Given the description of an element on the screen output the (x, y) to click on. 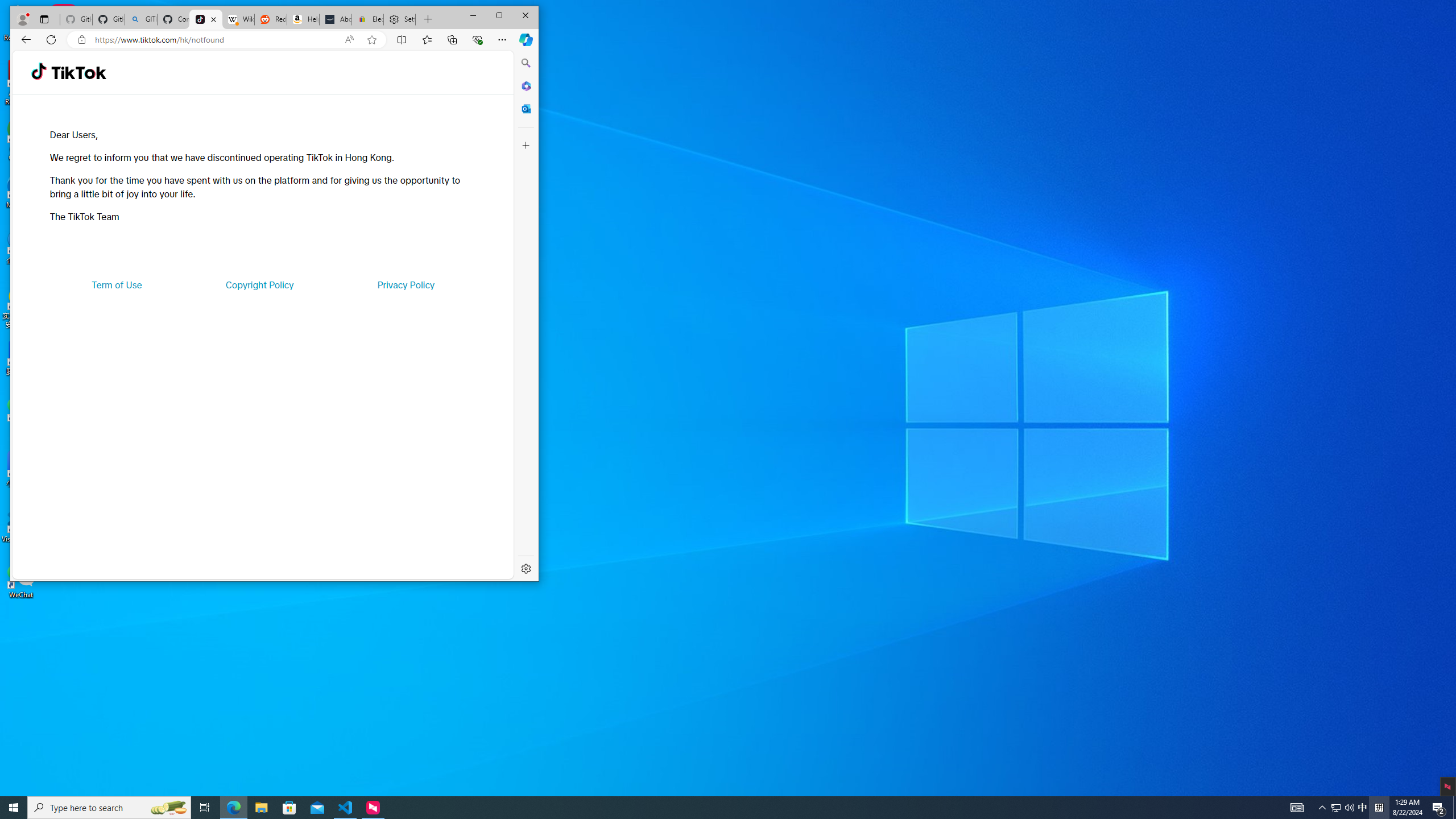
AutomationID: 4105 (1297, 807)
Start (13, 807)
File Explorer (261, 807)
About Amazon (335, 19)
Maximize (499, 15)
Term of Use (1362, 807)
